Given the description of an element on the screen output the (x, y) to click on. 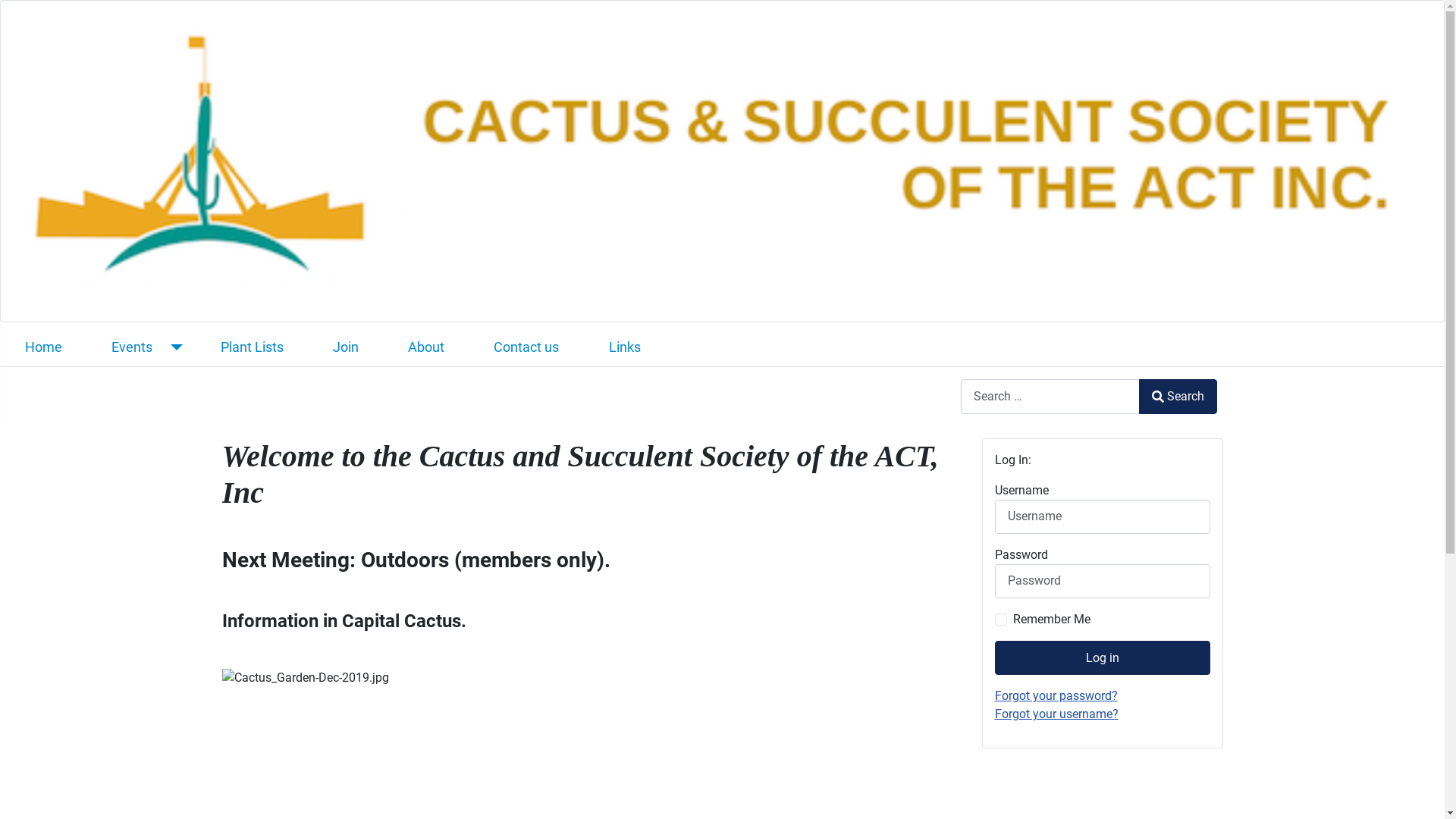
Links Element type: text (624, 347)
Home Element type: text (43, 347)
Search Element type: text (1177, 396)
Join Element type: text (345, 347)
Events Element type: text (131, 347)
About Element type: text (425, 347)
Forgot your username? Element type: text (1056, 713)
Plant Lists Element type: text (251, 347)
Log in Element type: text (1102, 657)
Forgot your password? Element type: text (1055, 695)
Contact us Element type: text (526, 347)
